Given the description of an element on the screen output the (x, y) to click on. 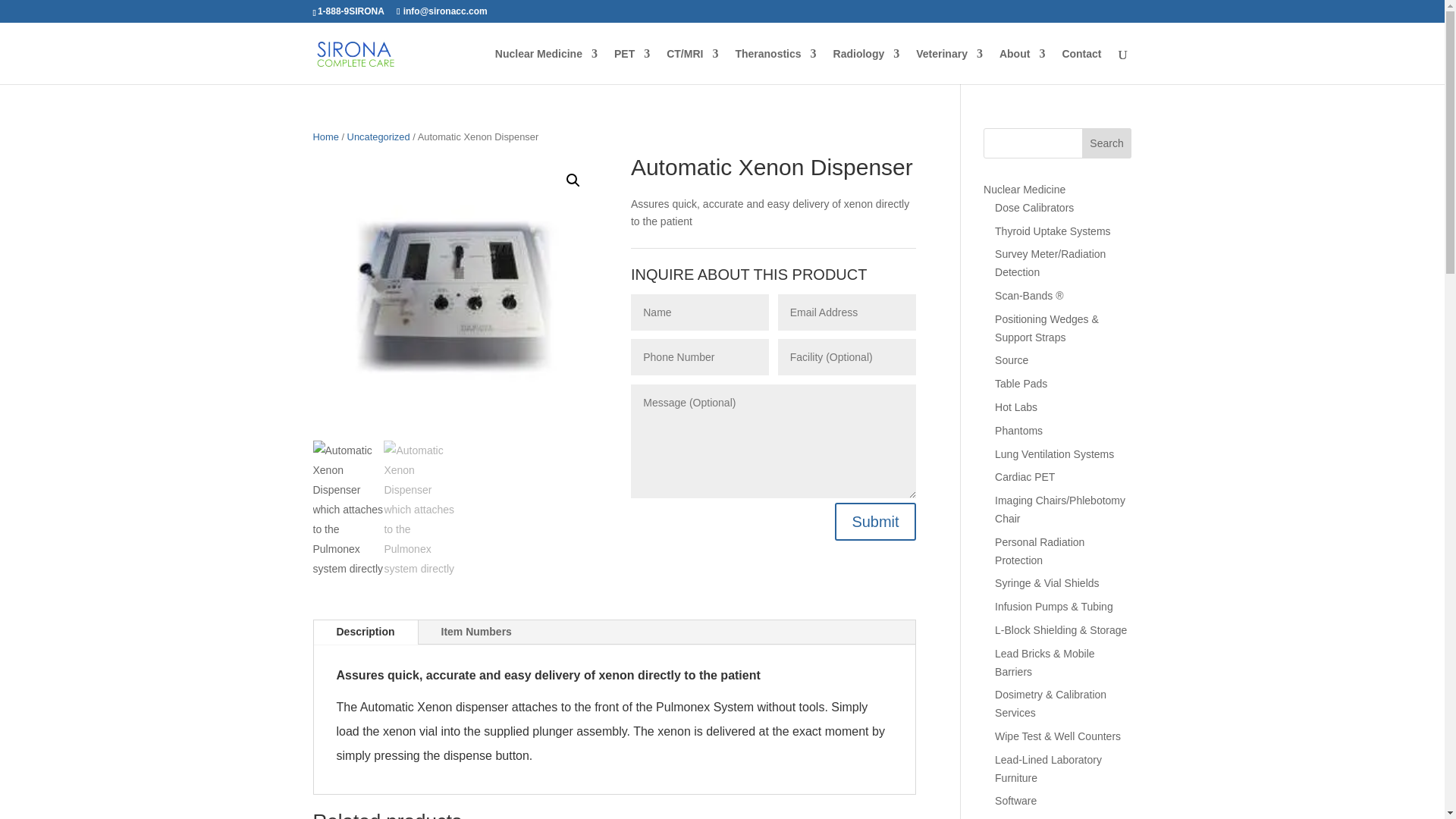
Automatic Xenon Dispenser (739, 298)
Search (1106, 142)
Nuclear Medicine (545, 66)
Automatic Xenon Dispenser (454, 298)
PET (631, 66)
